Given the description of an element on the screen output the (x, y) to click on. 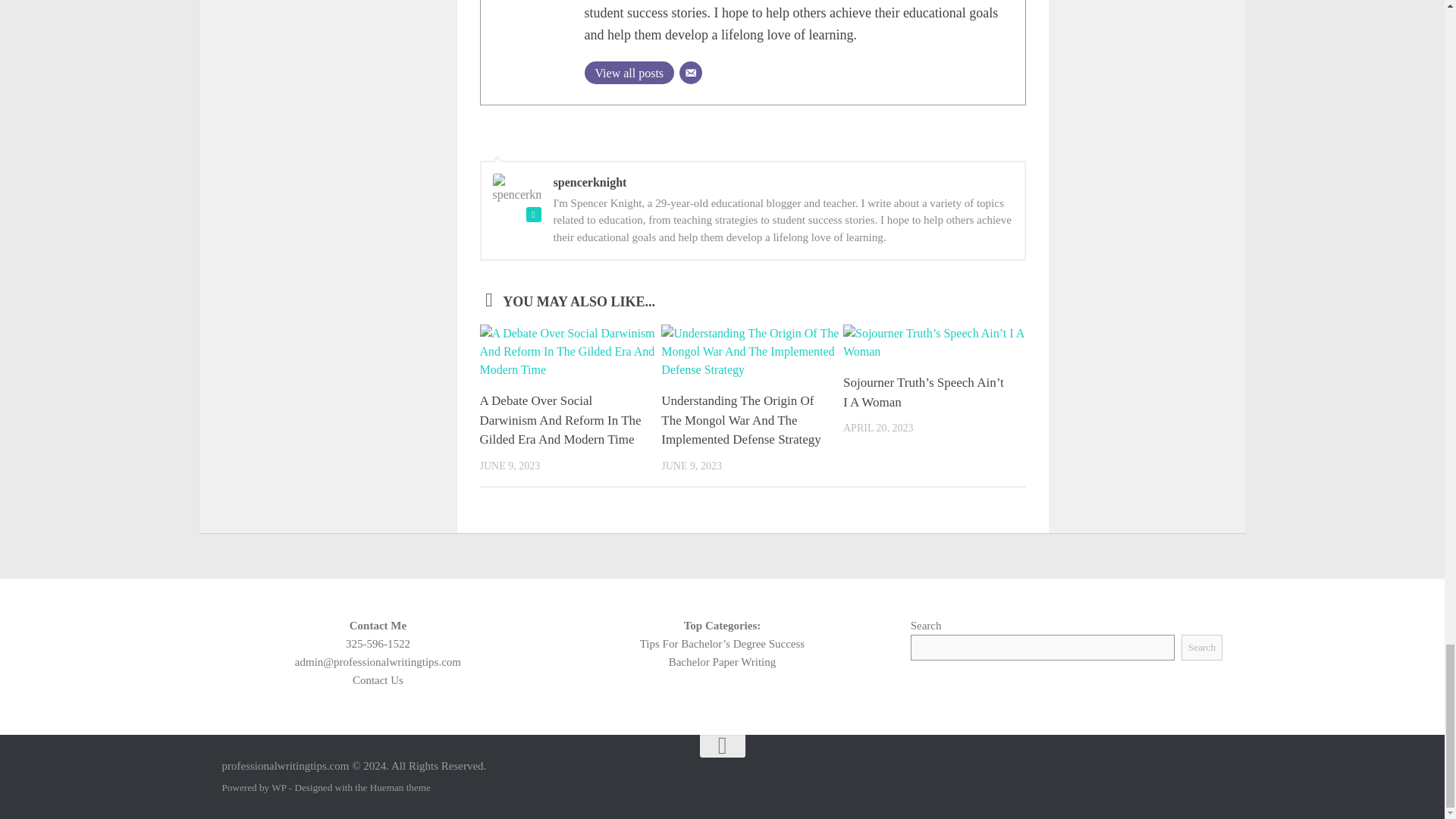
View all posts (628, 71)
View all posts (628, 71)
Contact Us (377, 680)
